Given the description of an element on the screen output the (x, y) to click on. 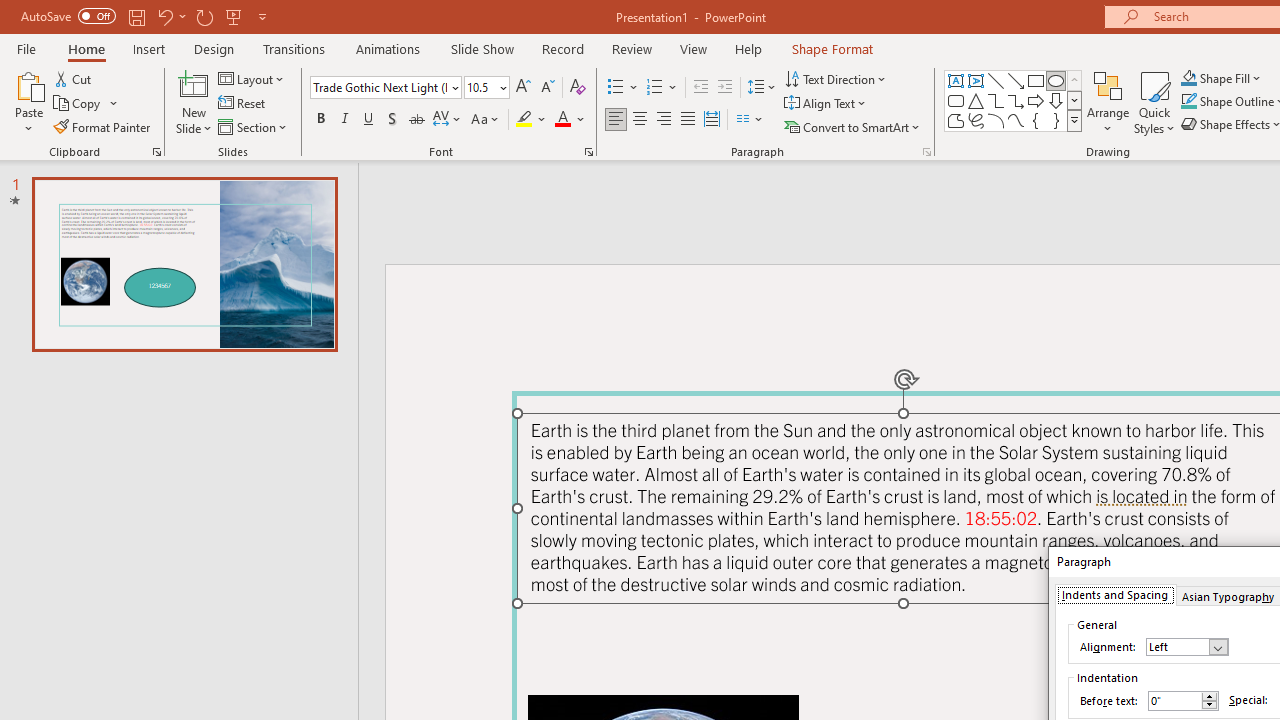
Shape Fill Aqua, Accent 2 (1188, 78)
